Given the description of an element on the screen output the (x, y) to click on. 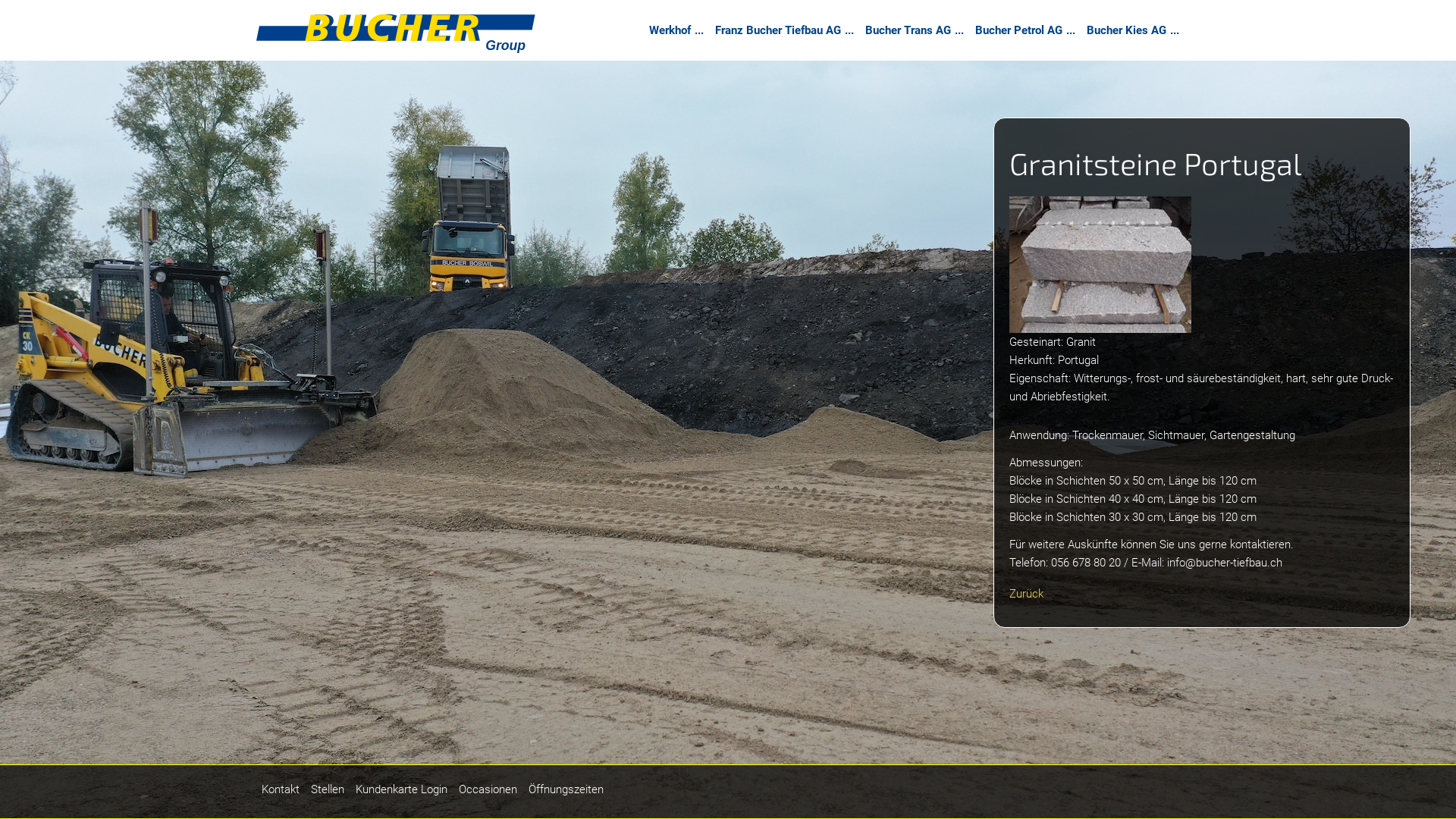
home Element type: hover (396, 36)
Occasionen Element type: text (487, 789)
Bucher Kies AG Element type: text (1131, 30)
Stellen Element type: text (327, 789)
Kontakt Element type: text (280, 789)
Franz Bucher Tiefbau AG Element type: text (782, 30)
Werkhof Element type: text (674, 30)
Bucher Trans AG Element type: text (912, 30)
  Element type: text (614, 788)
Kundenkarte Login Element type: text (401, 789)
Bucher Petrol AG Element type: text (1023, 30)
